Given the description of an element on the screen output the (x, y) to click on. 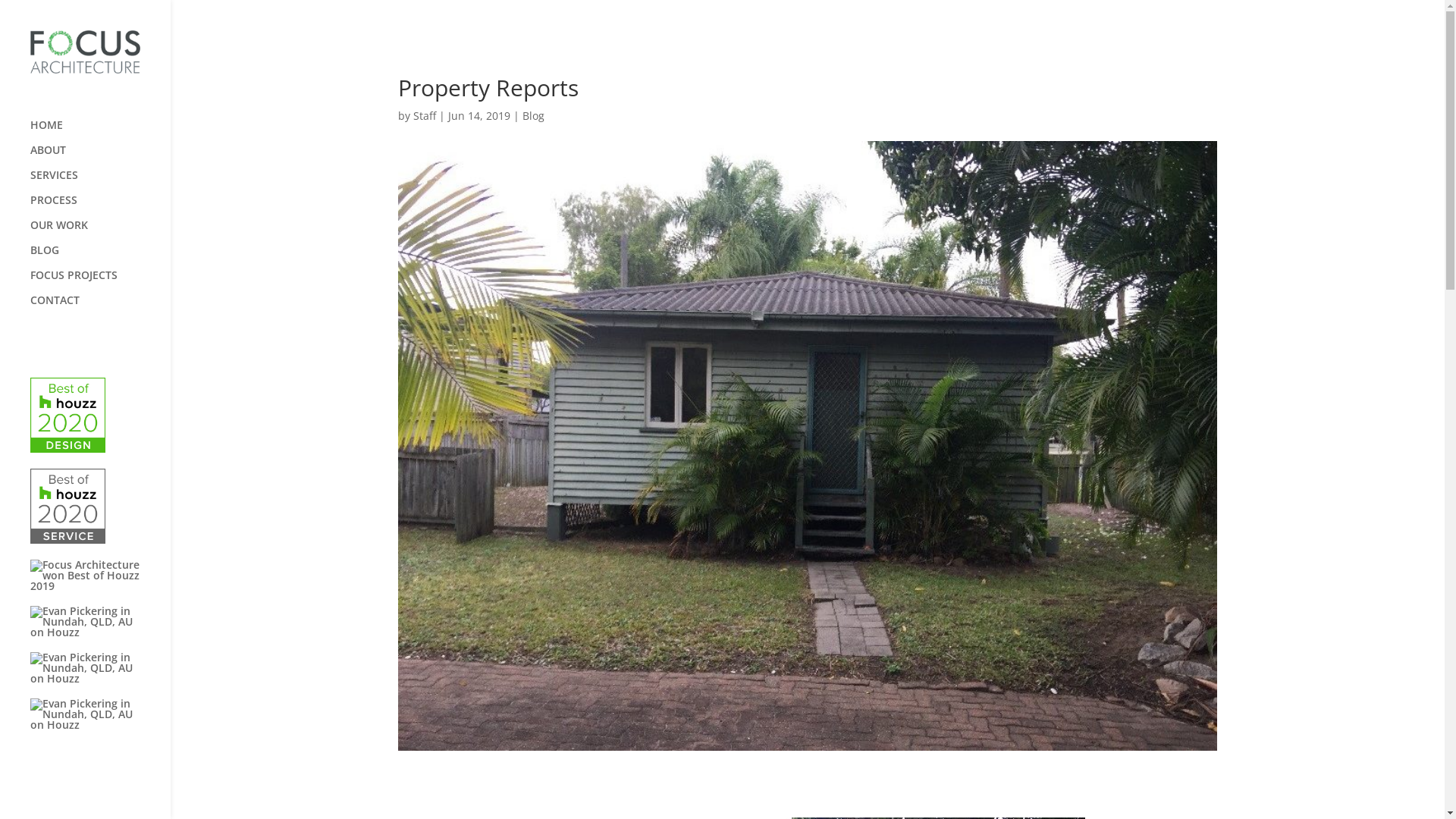
Blog Element type: text (533, 115)
HOME Element type: text (100, 131)
Staff Element type: text (424, 115)
SERVICES Element type: text (100, 181)
BLOG Element type: text (100, 256)
ABOUT Element type: text (100, 156)
FOCUS PROJECTS Element type: text (100, 281)
OUR WORK Element type: text (100, 231)
PROCESS Element type: text (100, 206)
CONTACT Element type: text (100, 307)
